Given the description of an element on the screen output the (x, y) to click on. 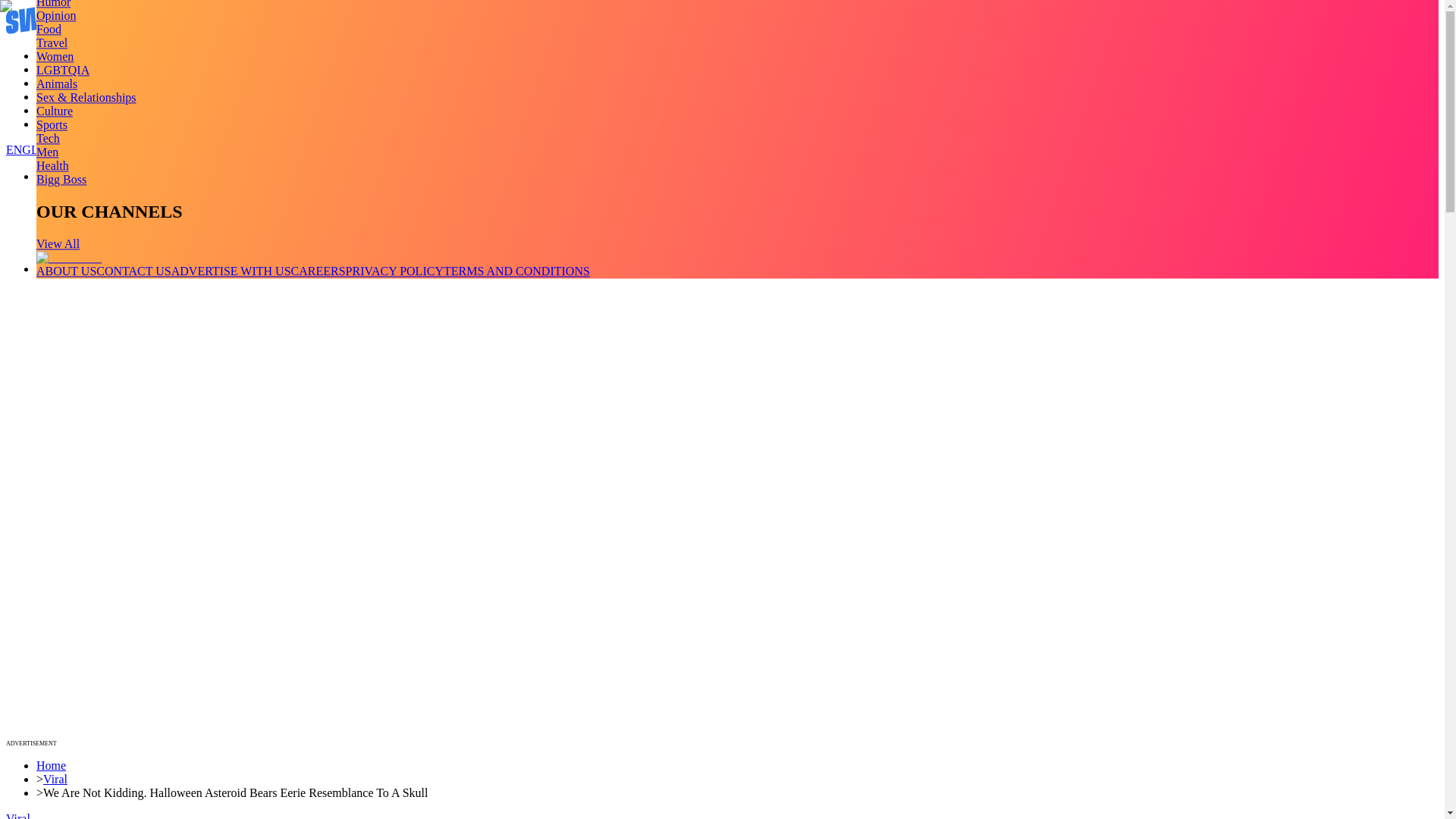
Bigg Boss (60, 178)
Quizzes (55, 96)
CONTACT US (133, 270)
Men (47, 151)
Sports (51, 124)
Spotlight (58, 123)
ADVERTISE WITH US (231, 270)
Tech (47, 137)
Animals (56, 83)
Travel (51, 42)
